Given the description of an element on the screen output the (x, y) to click on. 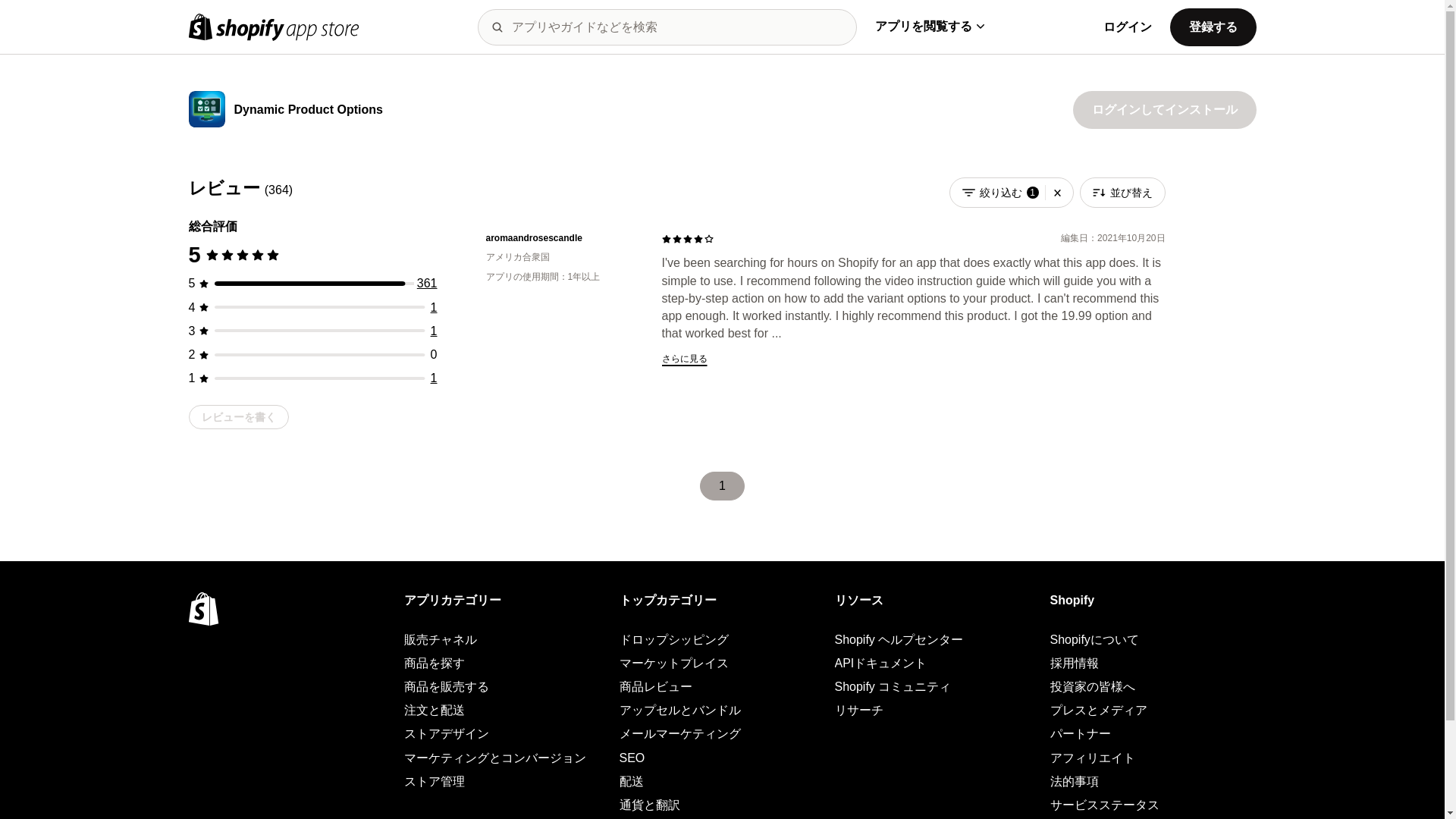
Dynamic Product Options (306, 110)
aromaandrosescandle (560, 237)
361 (427, 282)
